Given the description of an element on the screen output the (x, y) to click on. 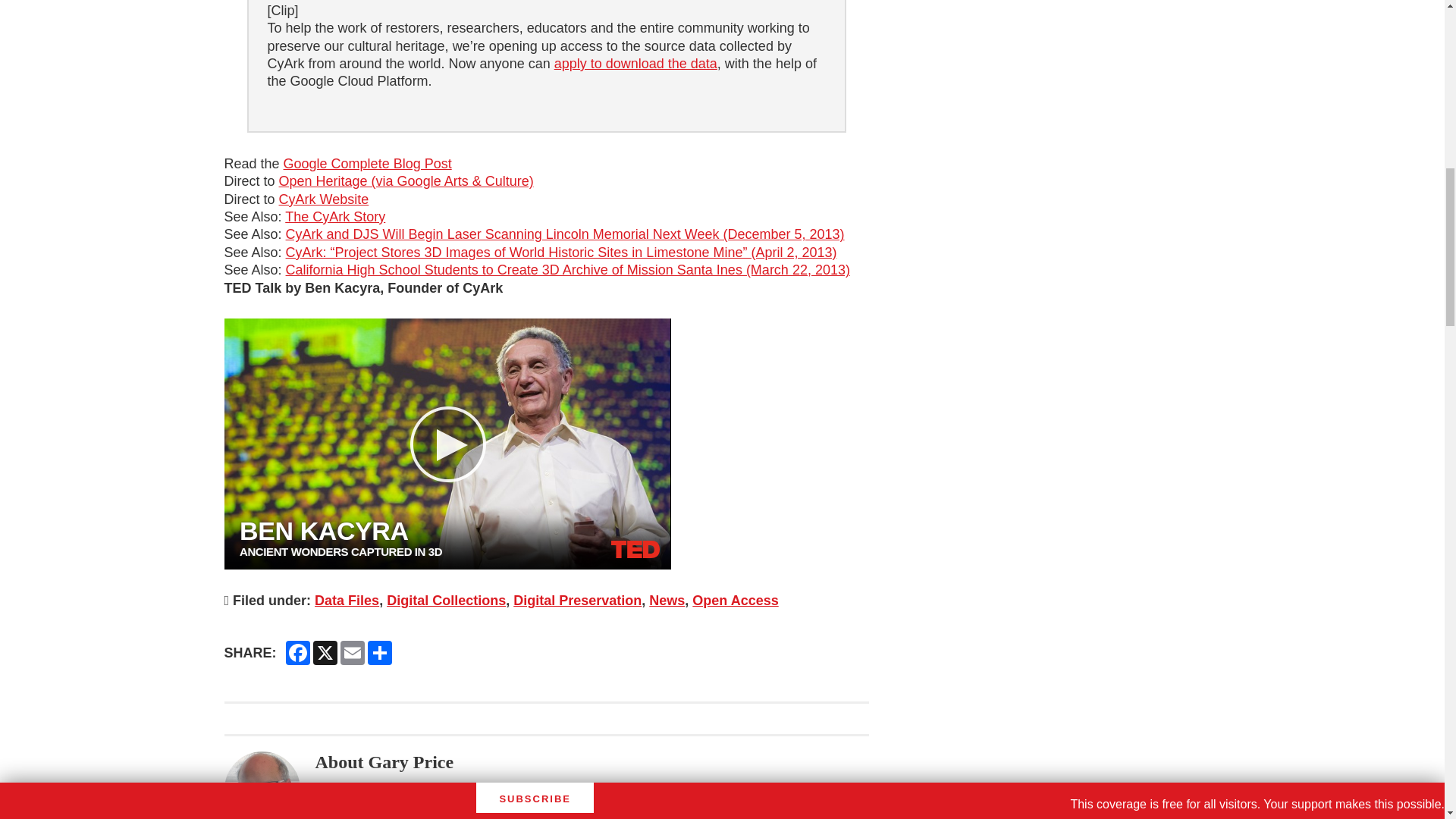
3rd party ad content (1106, 91)
